Given the description of an element on the screen output the (x, y) to click on. 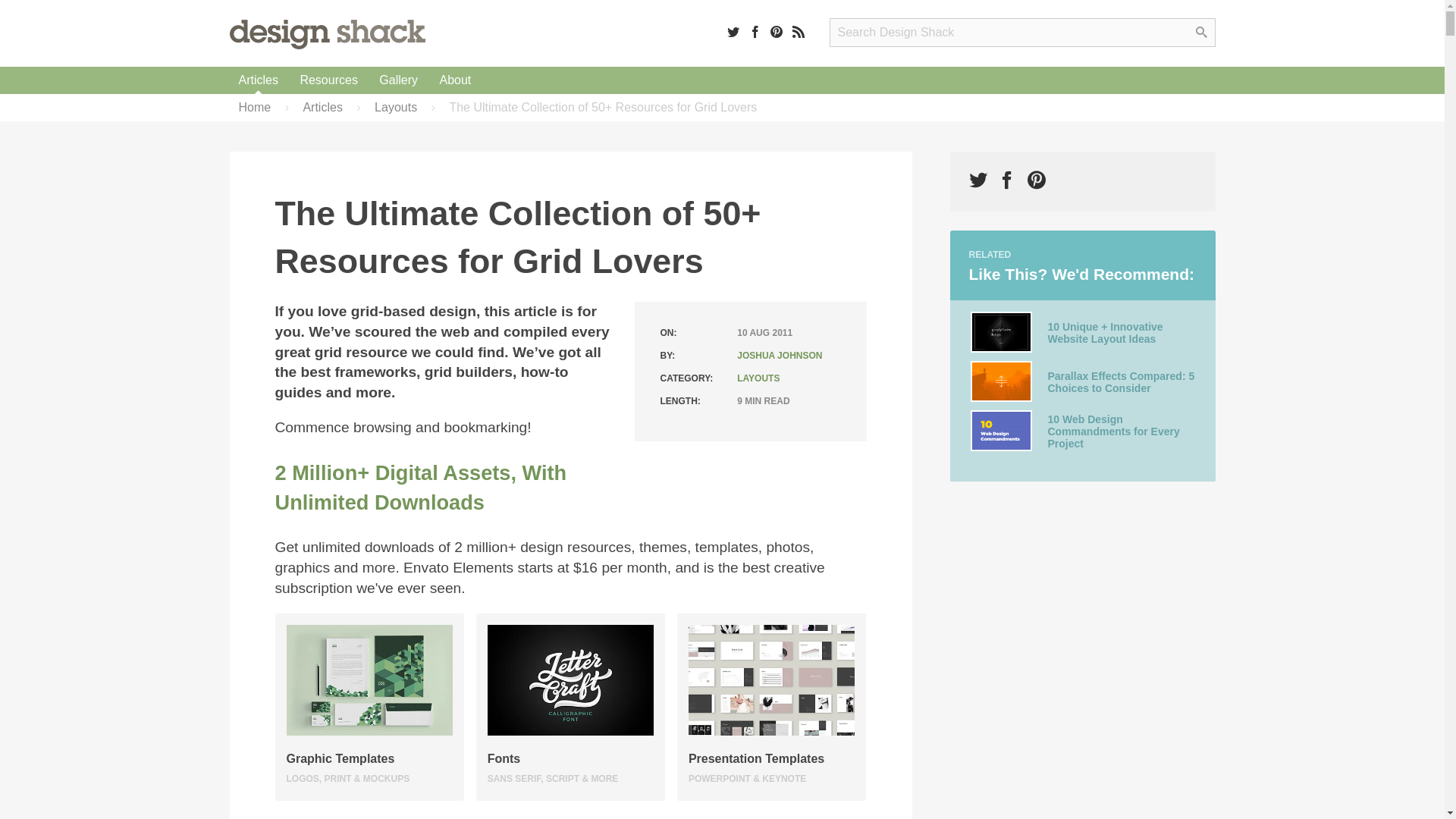
Articles (257, 80)
Facebook (755, 31)
RSS Feed (797, 31)
Search Design Shack (1022, 32)
Search Design Shack (1022, 32)
Articles (257, 80)
Design Shack (326, 34)
Pinterest (776, 31)
